Given the description of an element on the screen output the (x, y) to click on. 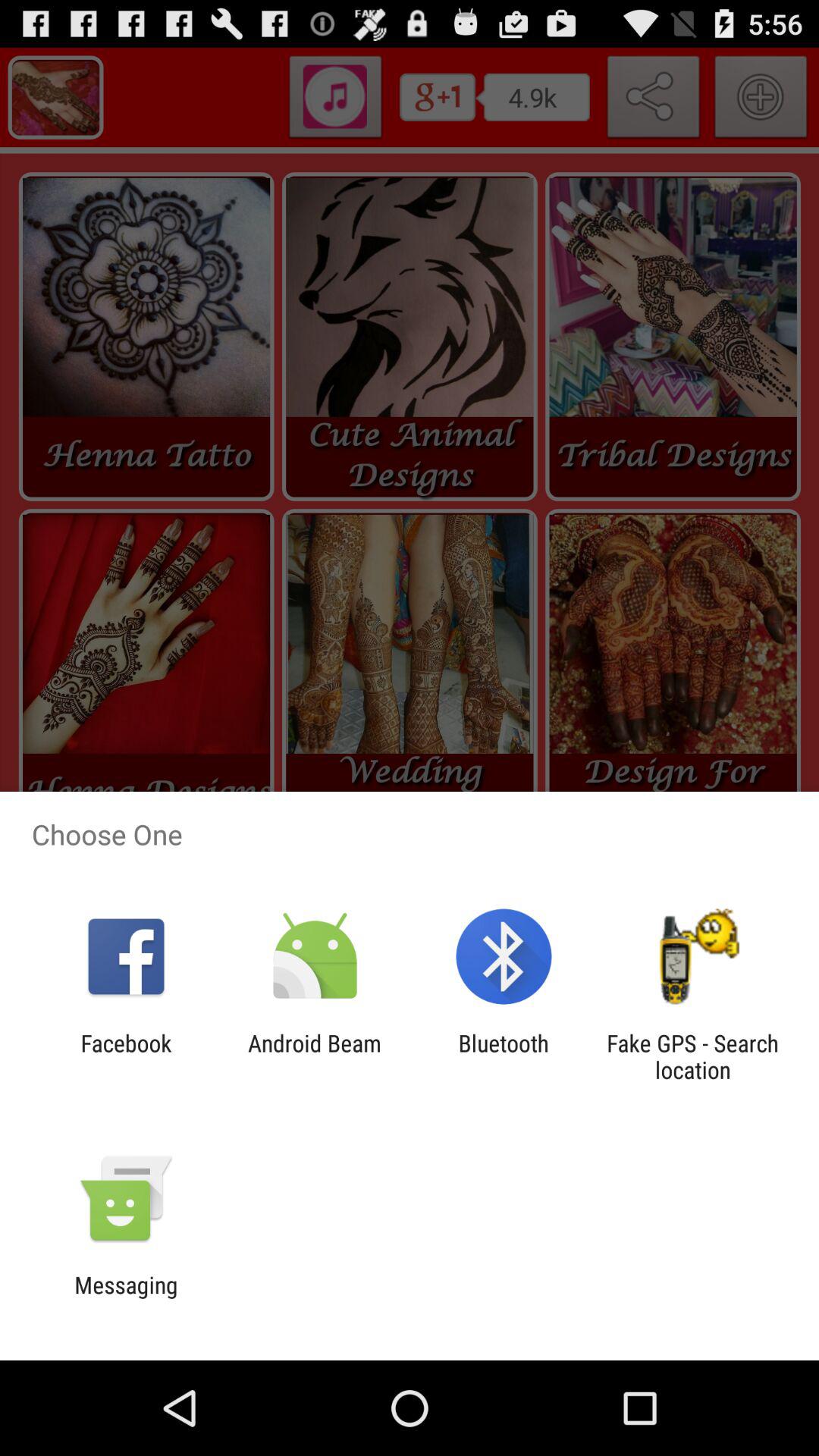
open the app to the right of android beam (503, 1056)
